Given the description of an element on the screen output the (x, y) to click on. 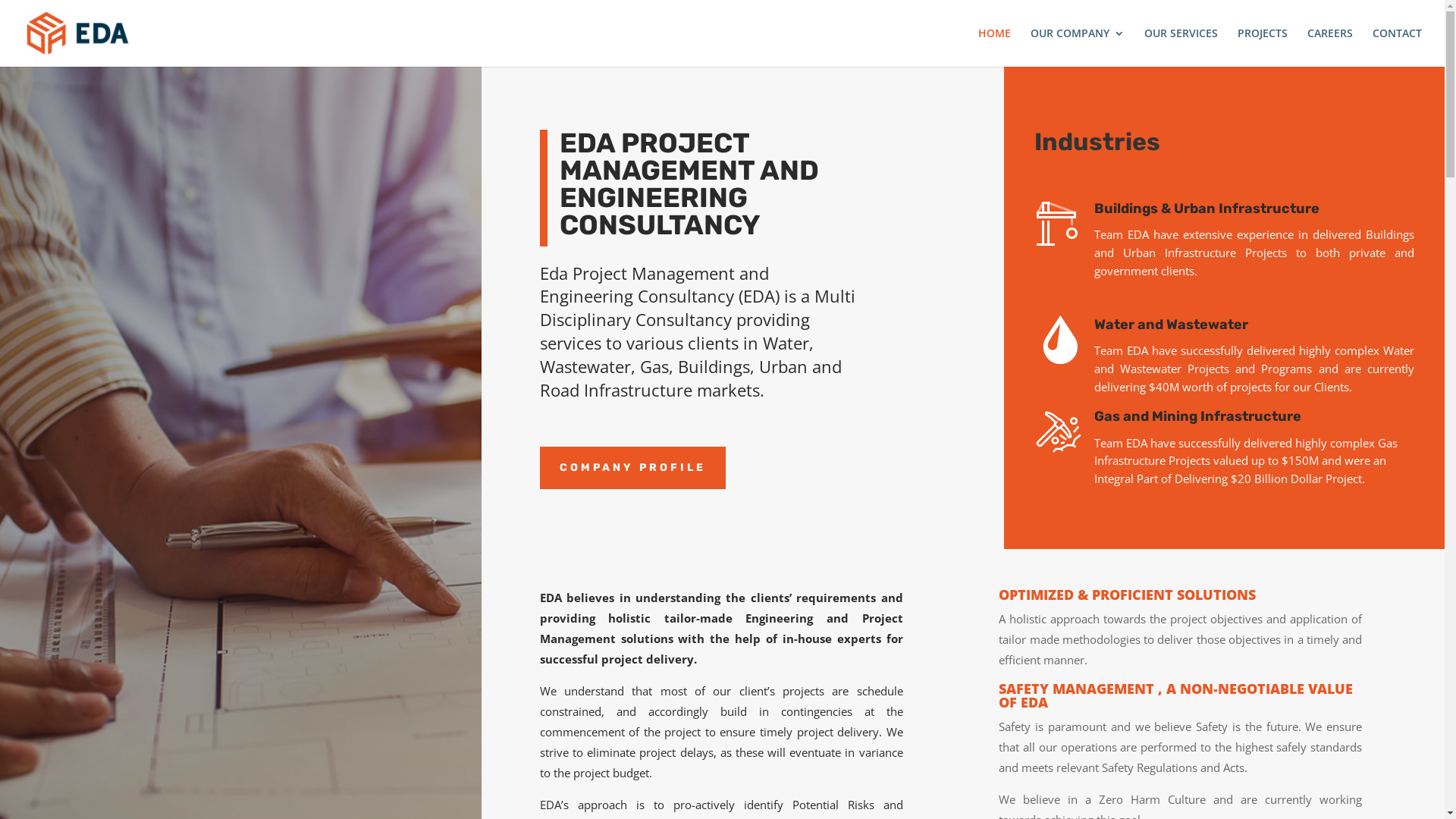
OUR SERVICES Element type: text (1180, 47)
COMPANY PROFILE Element type: text (632, 467)
OUR COMPANY Element type: text (1077, 47)
CONTACT Element type: text (1396, 47)
PROJECTS Element type: text (1262, 47)
HOME Element type: text (994, 47)
CAREERS Element type: text (1329, 47)
